Given the description of an element on the screen output the (x, y) to click on. 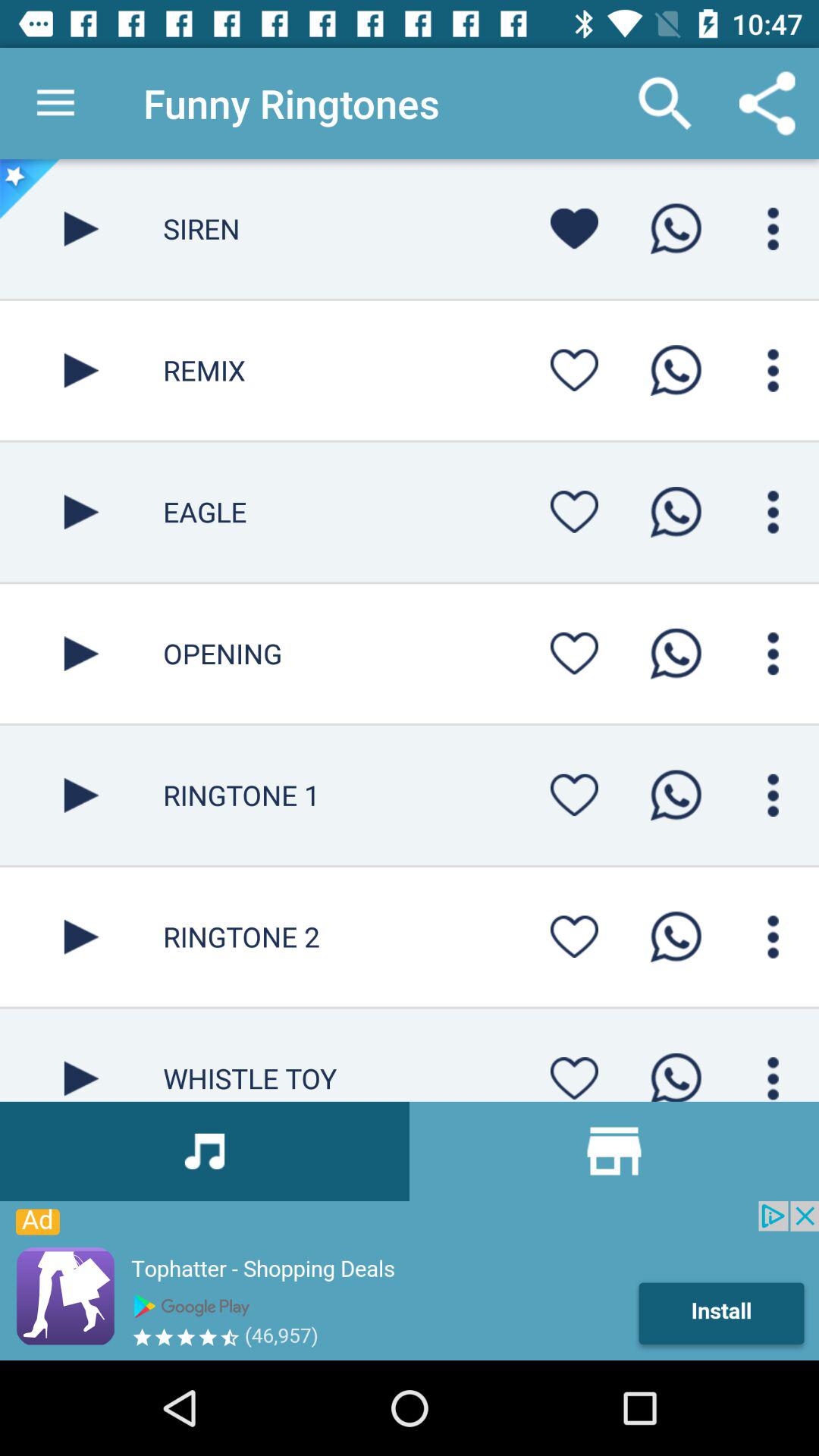
search (773, 936)
